Given the description of an element on the screen output the (x, y) to click on. 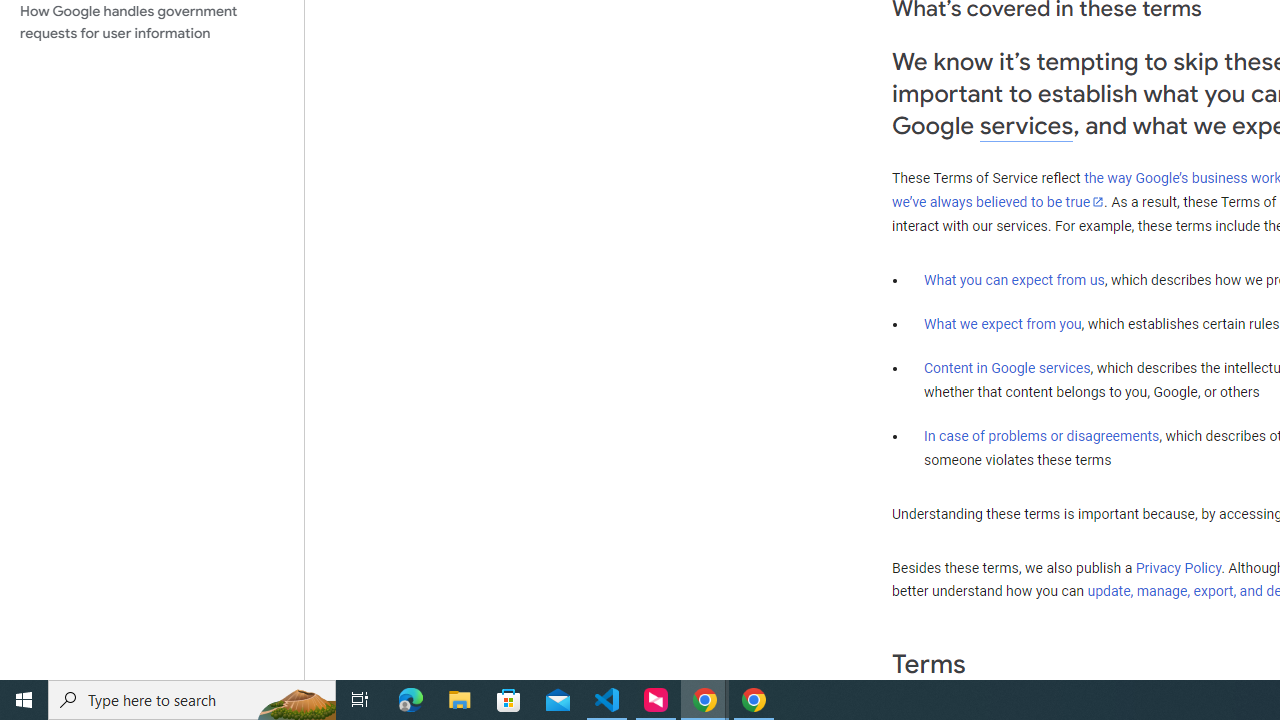
In case of problems or disagreements (1041, 435)
services (1026, 125)
Content in Google services (1007, 368)
What you can expect from us (1014, 279)
What we expect from you (1002, 323)
